Given the description of an element on the screen output the (x, y) to click on. 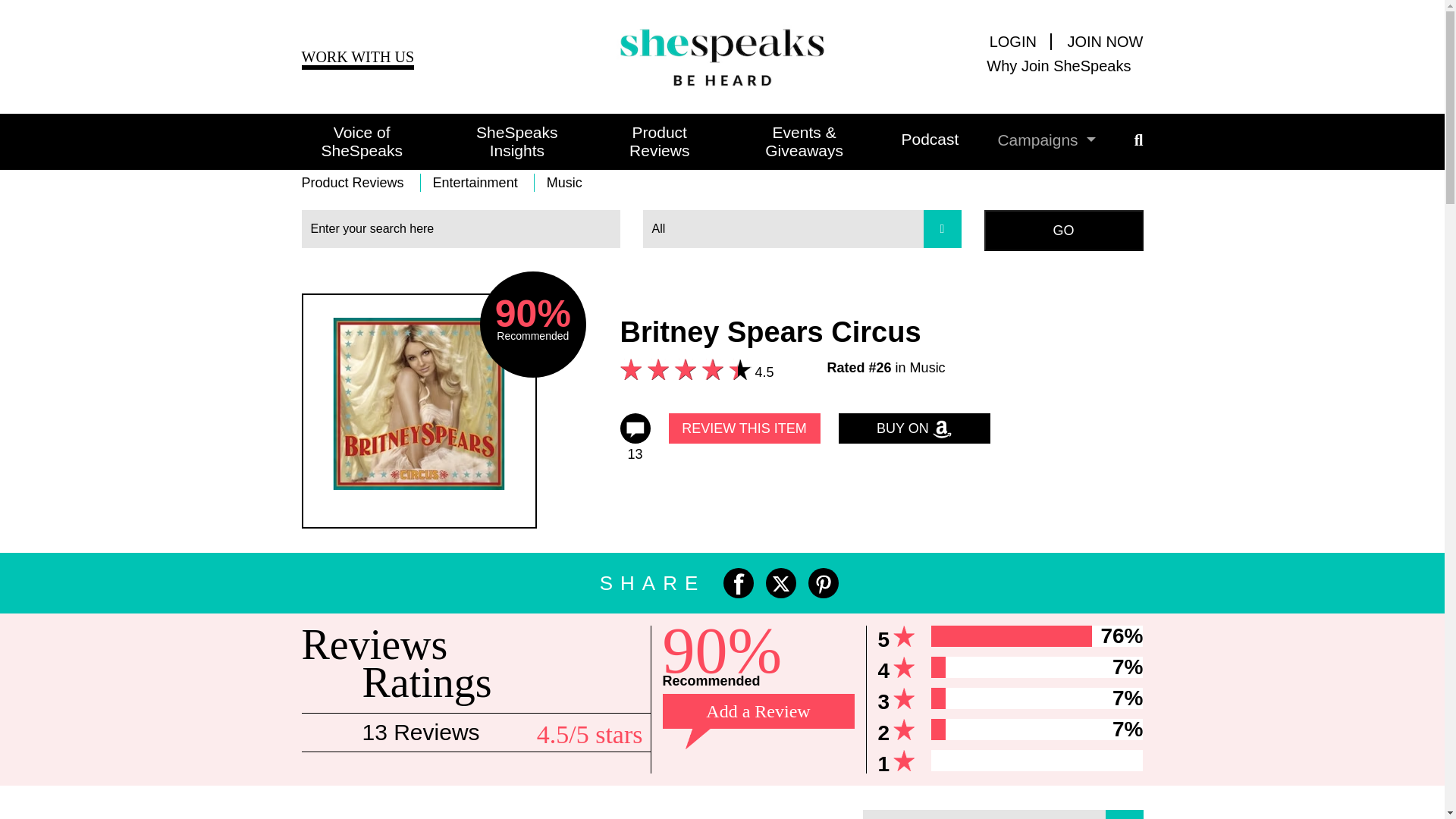
WORK WITH US (357, 58)
Voice of SheSpeaks (361, 141)
REVIEW THIS ITEM (744, 428)
Product Reviews (358, 182)
comments (635, 428)
Product Reviews (640, 141)
SheSpeaks Insights (497, 141)
Most Recent (1002, 814)
BUY ON (914, 428)
LOGIN (1020, 41)
